Given the description of an element on the screen output the (x, y) to click on. 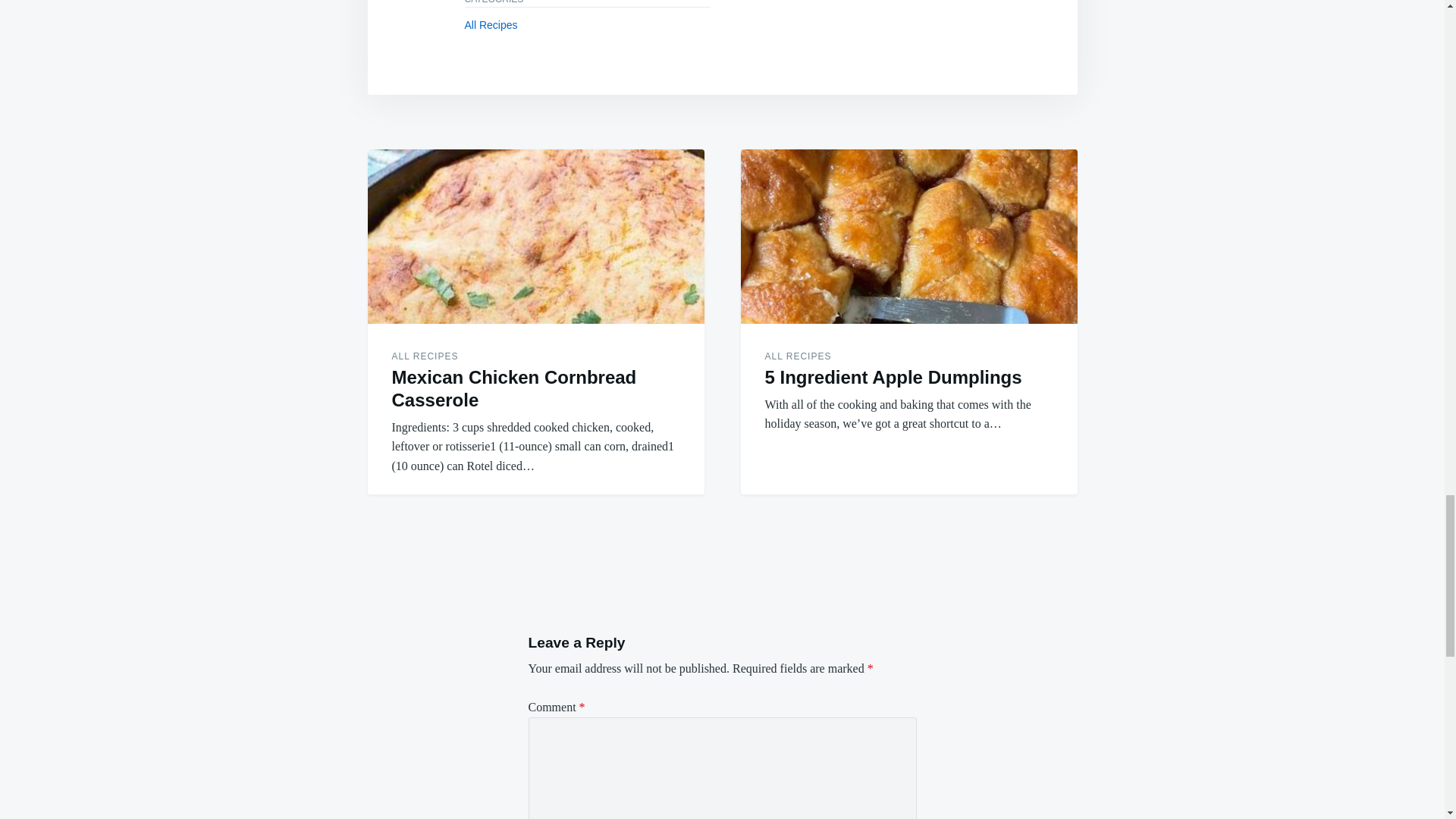
All Recipes (490, 24)
ALL RECIPES (424, 356)
5 Ingredient Apple Dumplings (893, 376)
Mexican Chicken Cornbread Casserole (513, 388)
Mexican Chicken Cornbread Casserole (534, 236)
ALL RECIPES (797, 356)
5 Ingredient Apple Dumplings (908, 236)
